Given the description of an element on the screen output the (x, y) to click on. 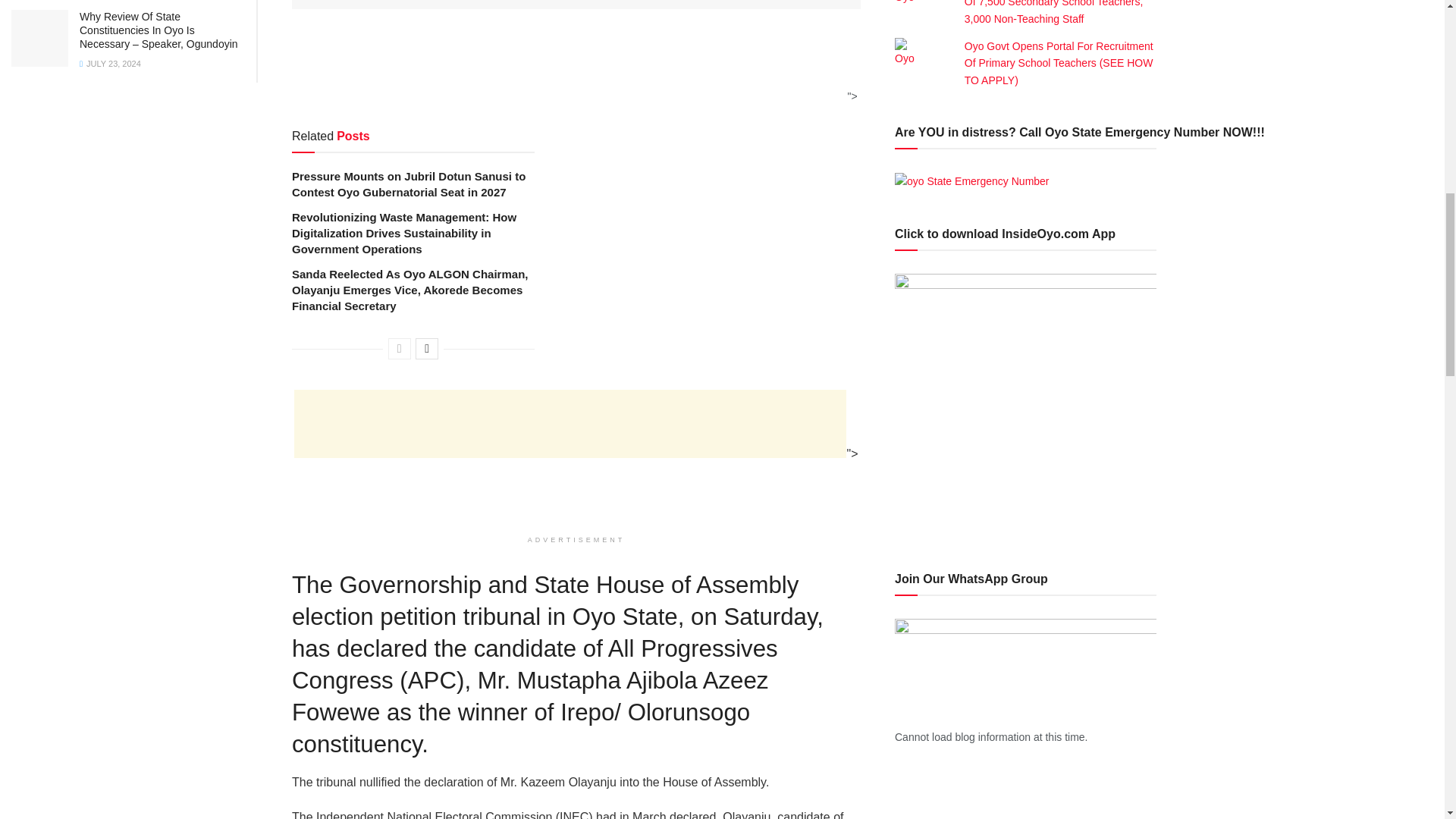
Previous (399, 348)
Next (426, 348)
Are YOU in distress? Call Oyo State Emergency Number NOW!!! (972, 180)
